Given the description of an element on the screen output the (x, y) to click on. 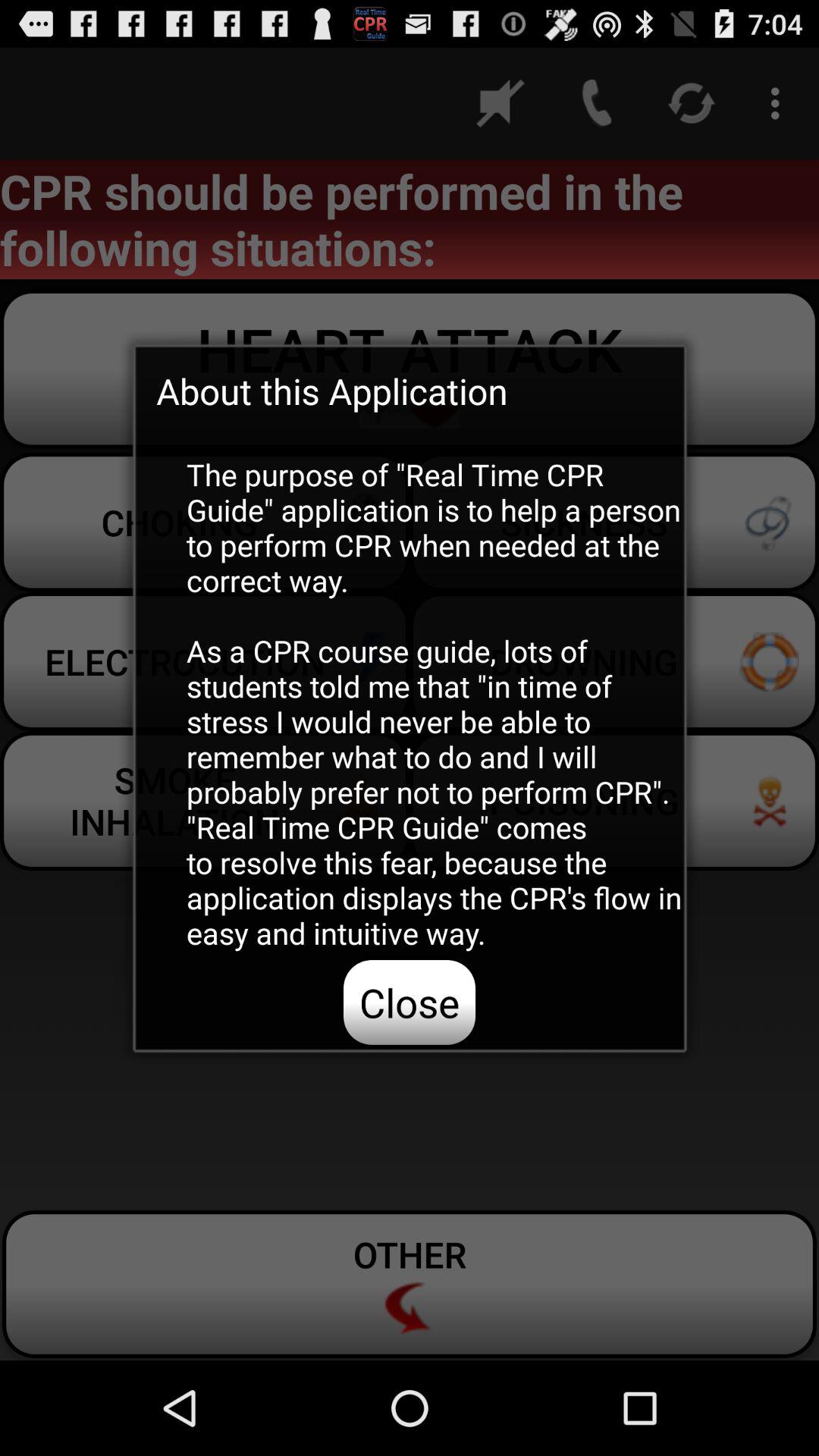
jump until close item (409, 1002)
